Given the description of an element on the screen output the (x, y) to click on. 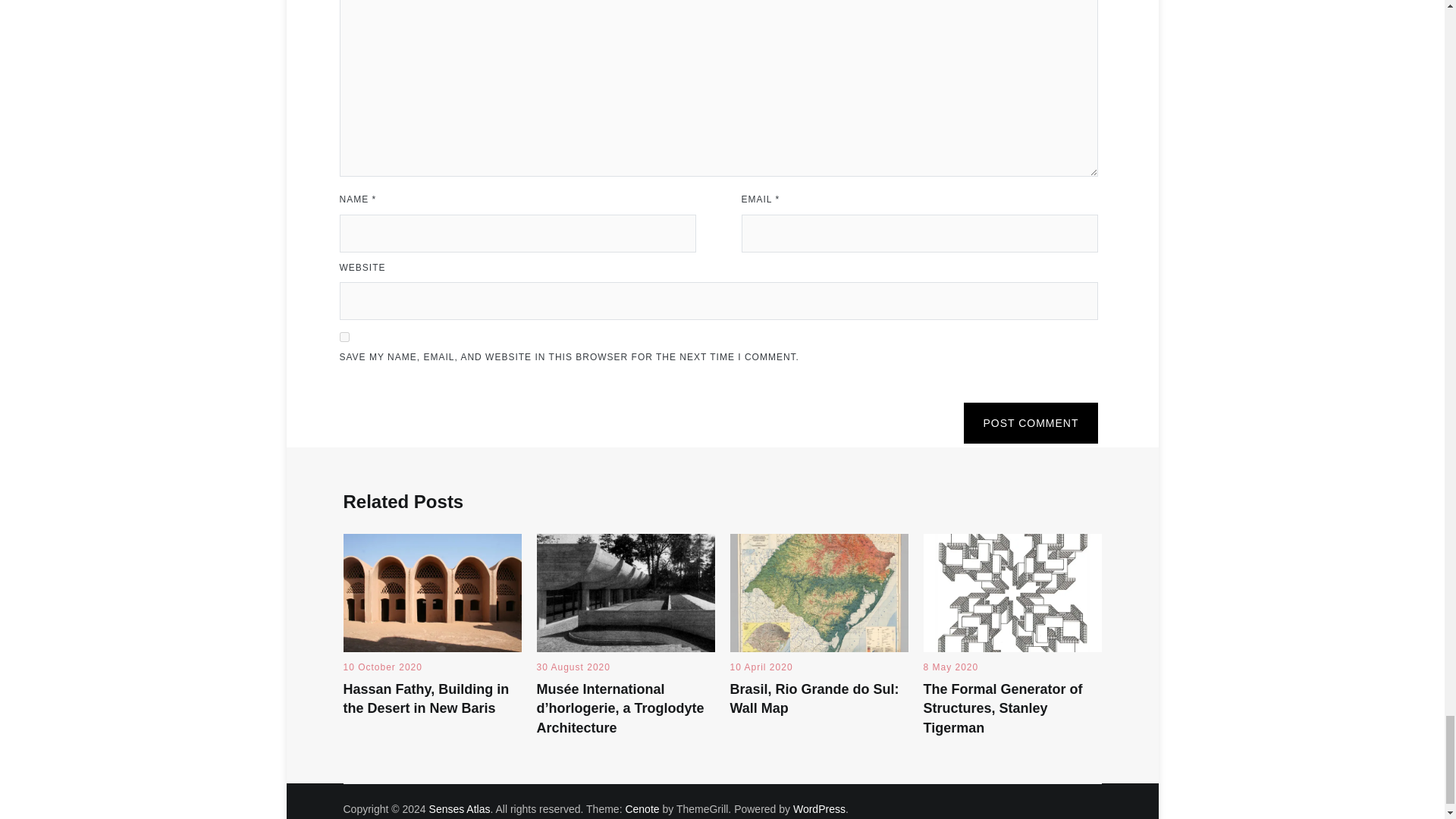
yes (344, 337)
Senses Atlas (459, 808)
